Given the description of an element on the screen output the (x, y) to click on. 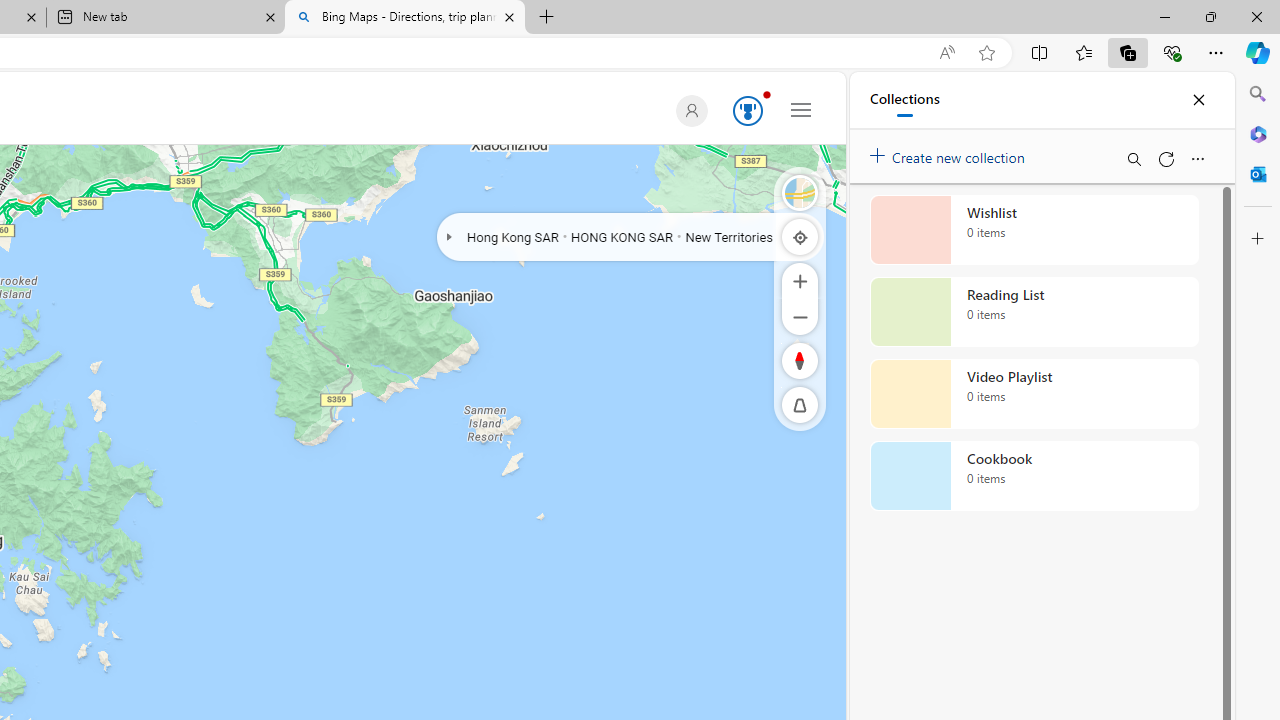
Reset to Default Rotation (799, 360)
Reading List collection, 0 items (1034, 312)
Default Profile Picture (691, 110)
Settings and quick links (801, 109)
More options menu (1197, 158)
Bird's eye (799, 192)
Zoom In (799, 280)
Select Style (799, 192)
Video Playlist collection, 0 items (1034, 394)
